Given the description of an element on the screen output the (x, y) to click on. 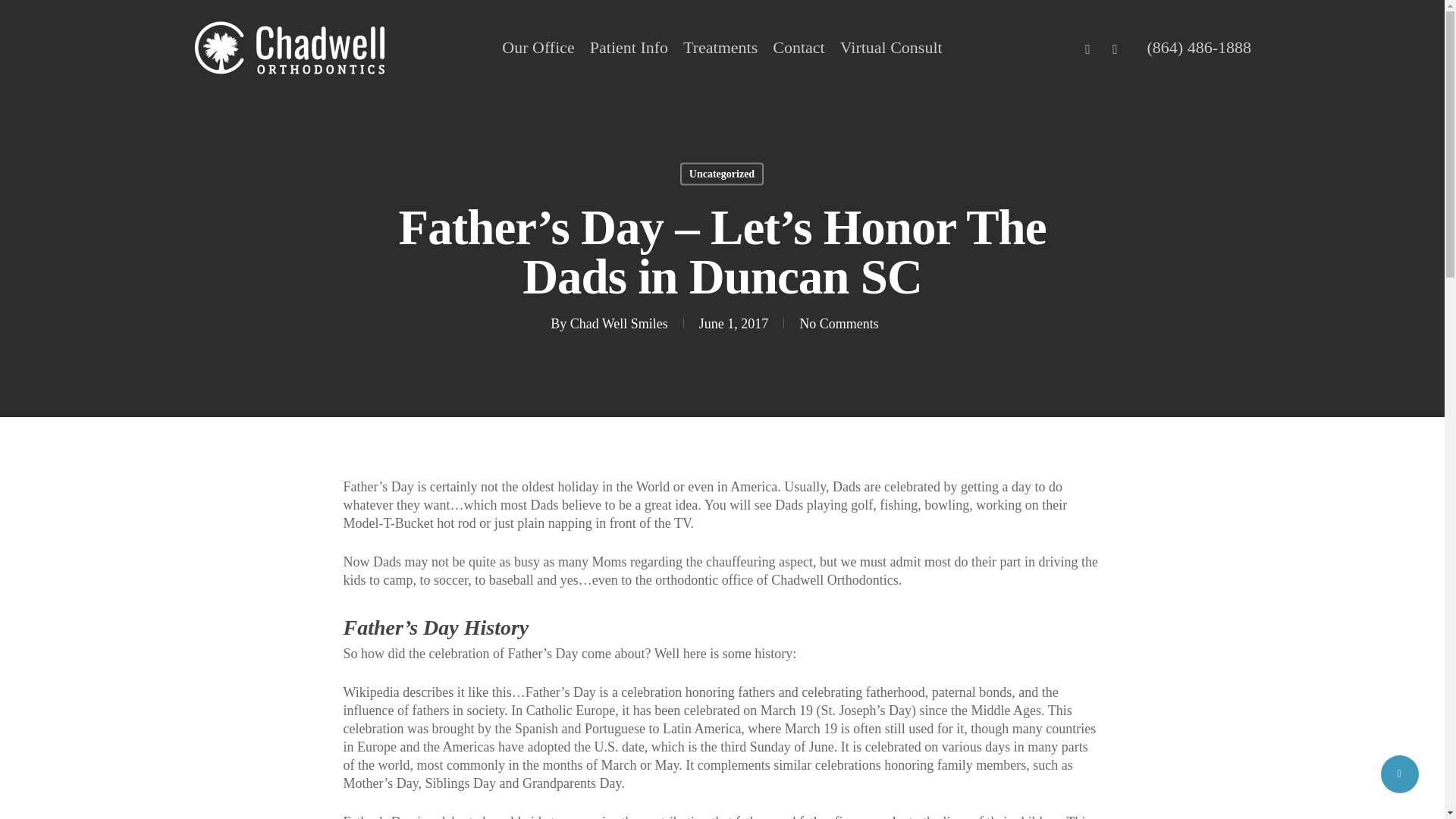
Virtual Consult (891, 47)
facebook (1088, 47)
Our Office (538, 47)
Treatments (719, 47)
Patient Info (628, 47)
Posts by Chad Well Smiles (619, 322)
Contact (798, 47)
instagram (1115, 47)
